Given the description of an element on the screen output the (x, y) to click on. 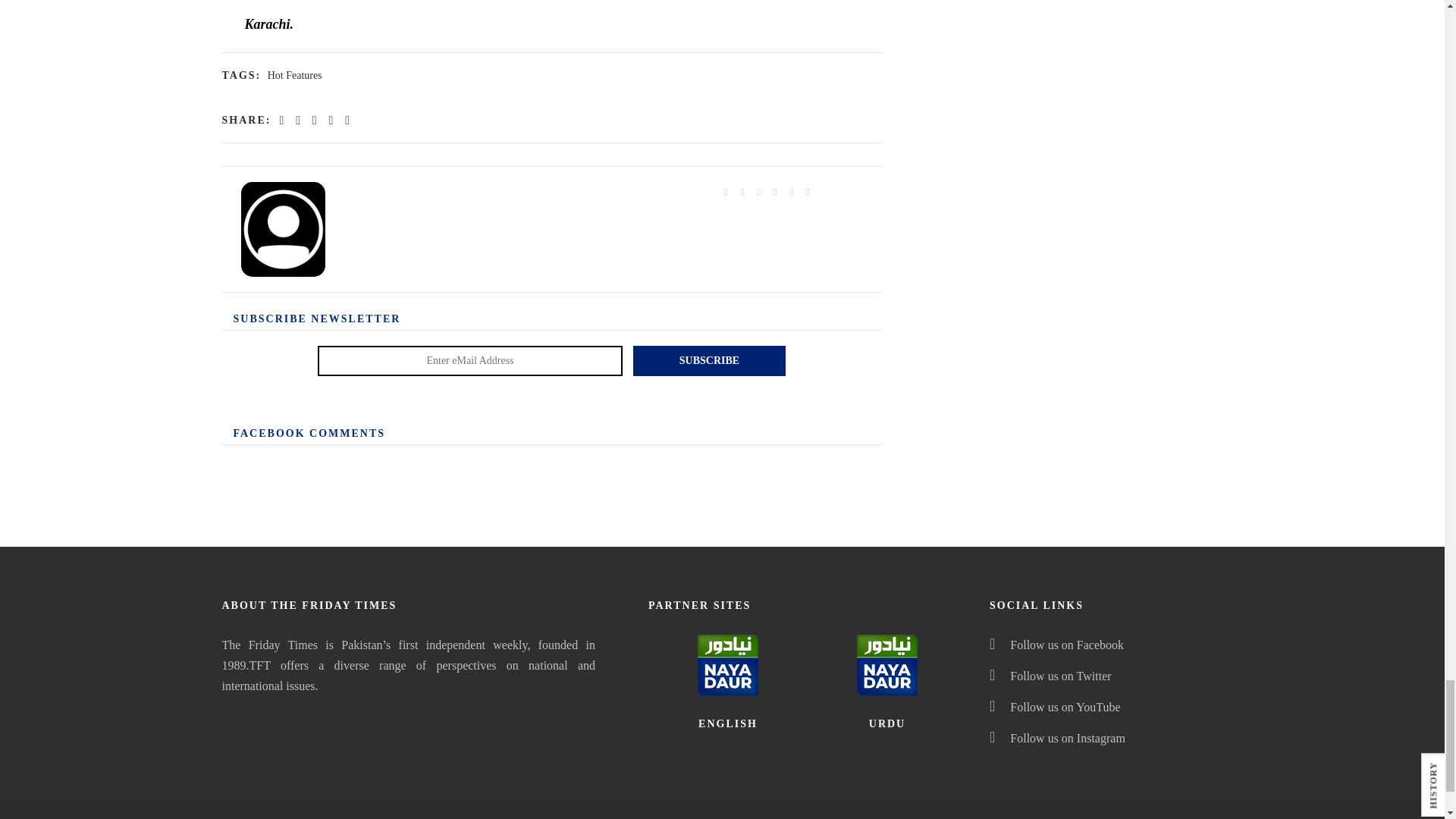
Subscribe (709, 360)
